Given the description of an element on the screen output the (x, y) to click on. 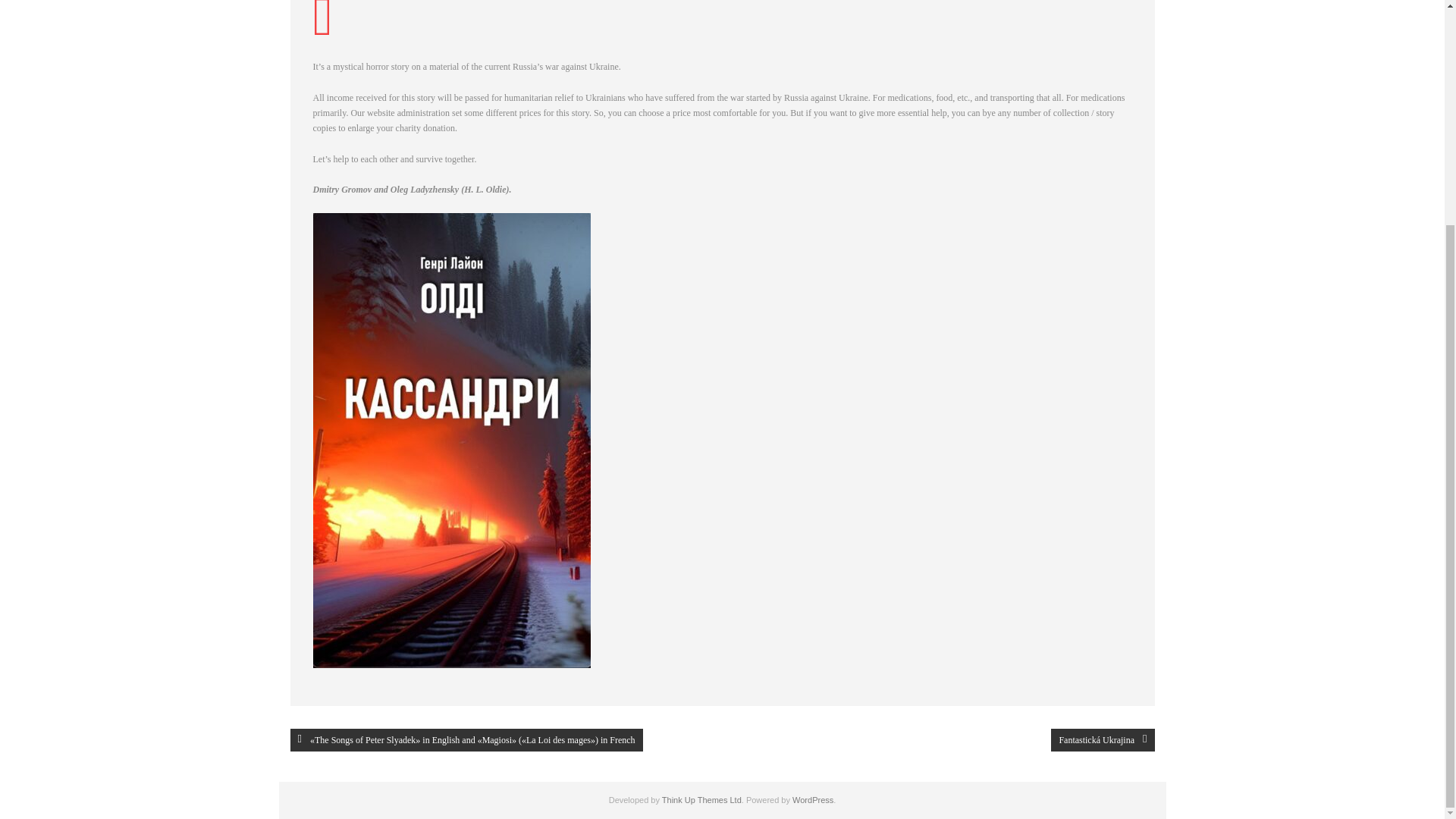
Think Up Themes Ltd (701, 799)
WordPress (812, 799)
